Given the description of an element on the screen output the (x, y) to click on. 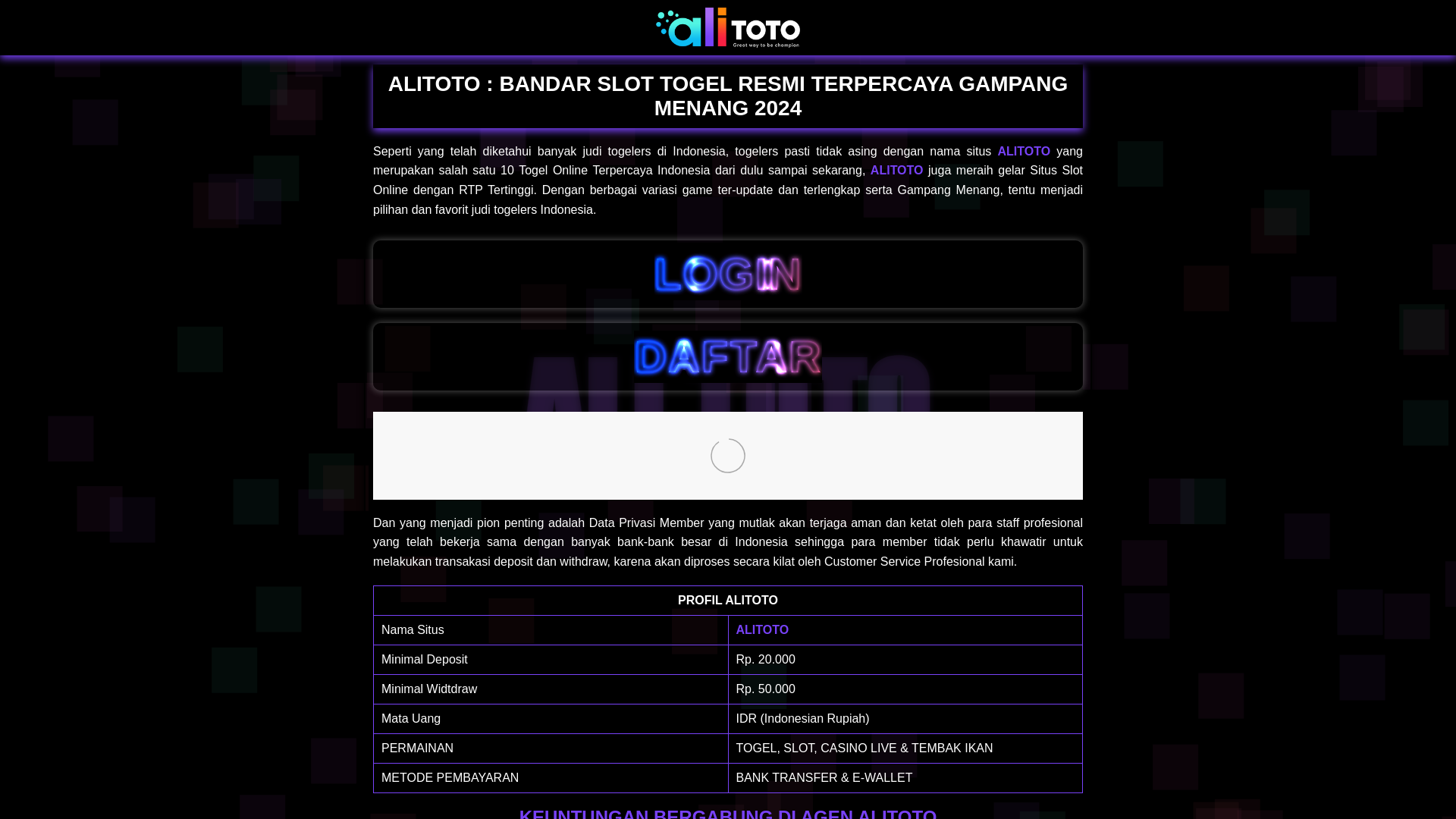
ALITOTO (762, 629)
LOGIN (727, 273)
DAFTAR (727, 356)
